Given the description of an element on the screen output the (x, y) to click on. 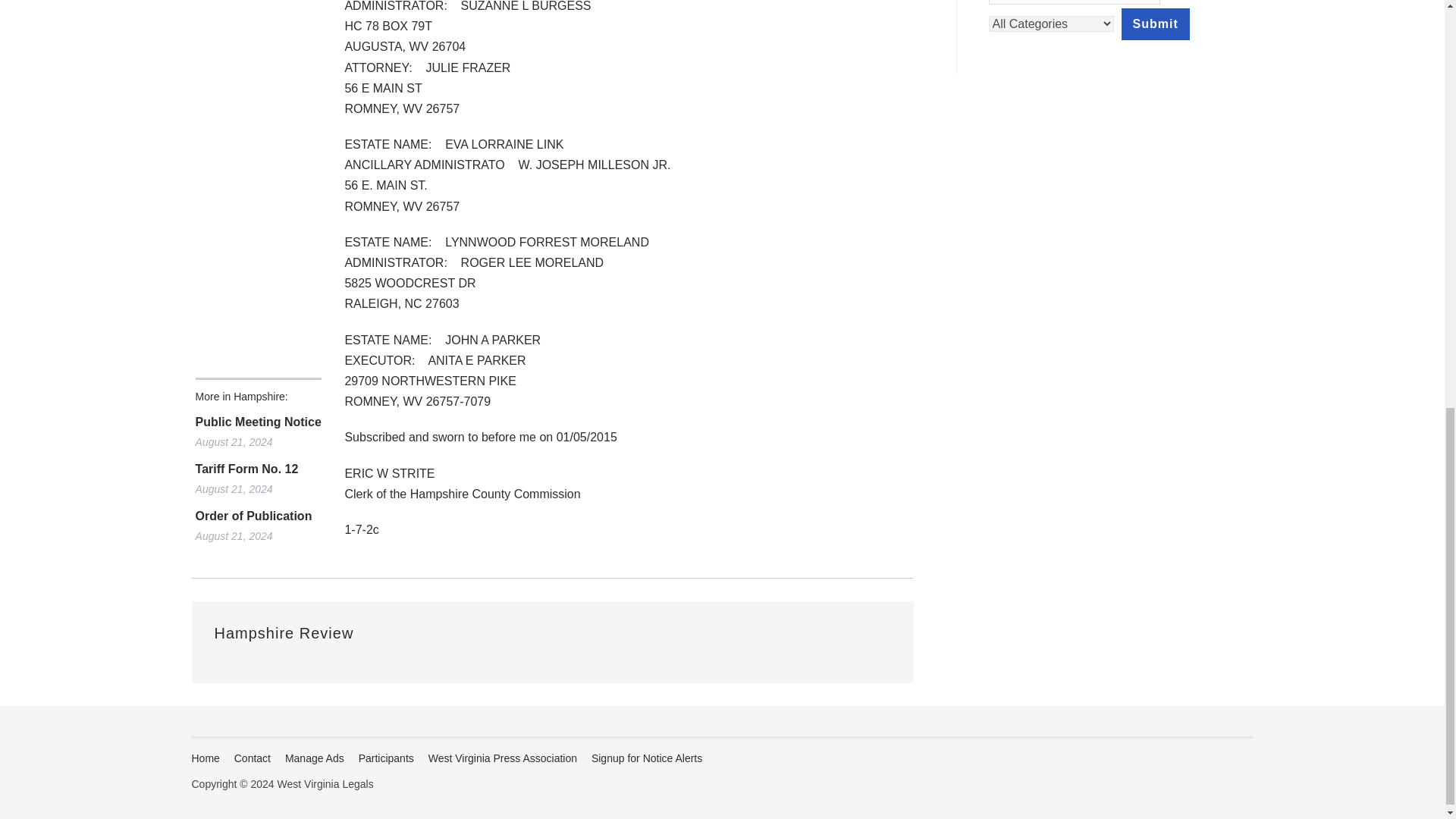
Hampshire Review (283, 632)
Permalink to Tariff Form No. 12 (258, 469)
Order of Publication (258, 515)
Permalink to Public Meeting Notice (258, 422)
Posts by Hampshire Review (283, 632)
Submit (1155, 24)
Tariff Form No. 12 (258, 469)
Permalink to Order of Publication (258, 515)
Public Meeting Notice (258, 422)
